Given the description of an element on the screen output the (x, y) to click on. 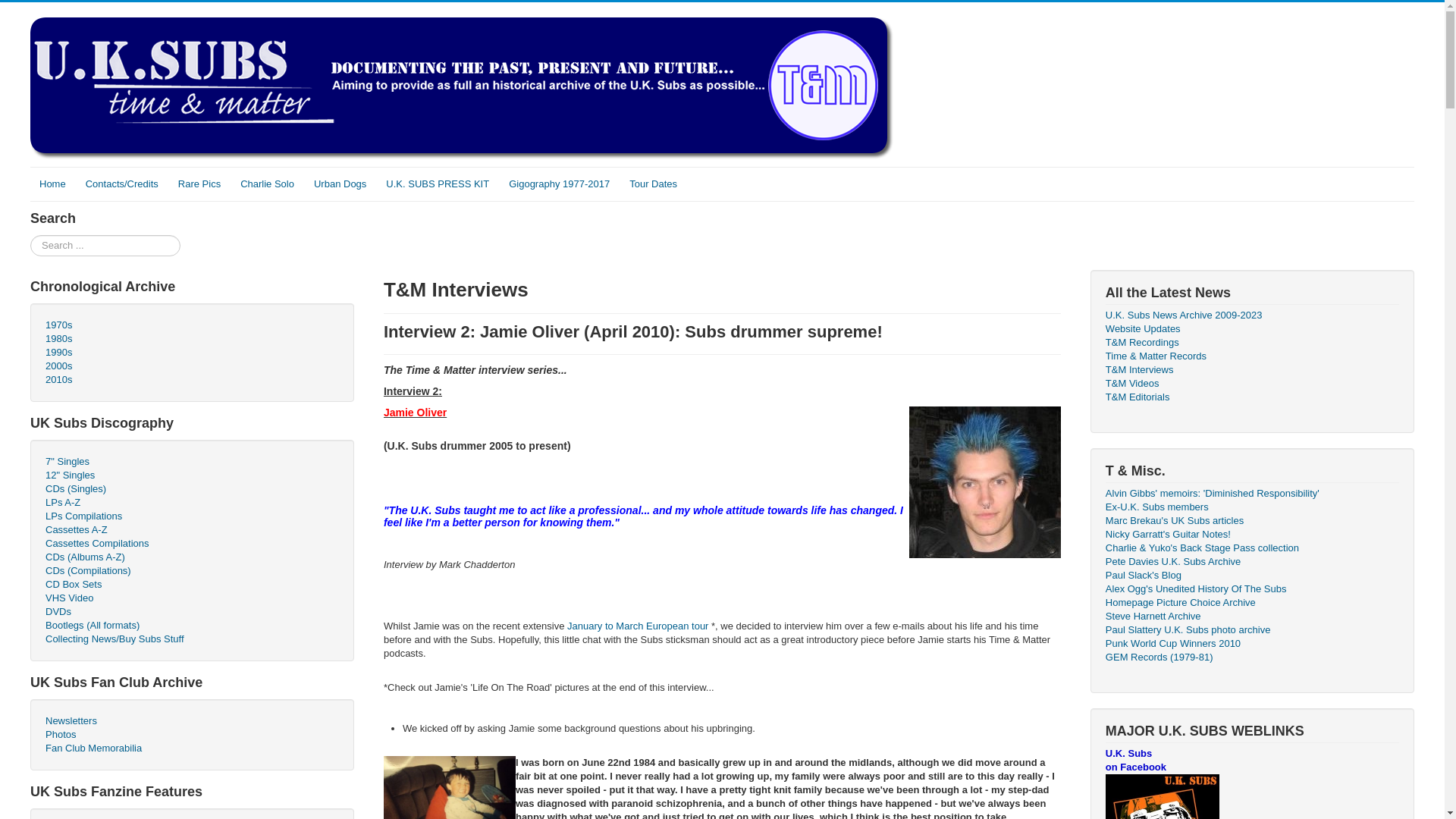
Photos (192, 735)
Cassettes Compilations (192, 543)
Gigography 1977-2017 (558, 183)
12" Singles (192, 475)
Rare Pics (199, 183)
Home (52, 183)
1990s (192, 352)
2000s (192, 366)
Fan Club Memorabilia (192, 748)
Urban Dogs (339, 183)
LPs Compilations (192, 516)
Charlie Solo (266, 183)
January to March European tour (637, 625)
Jamie   Oliver (984, 481)
